Given the description of an element on the screen output the (x, y) to click on. 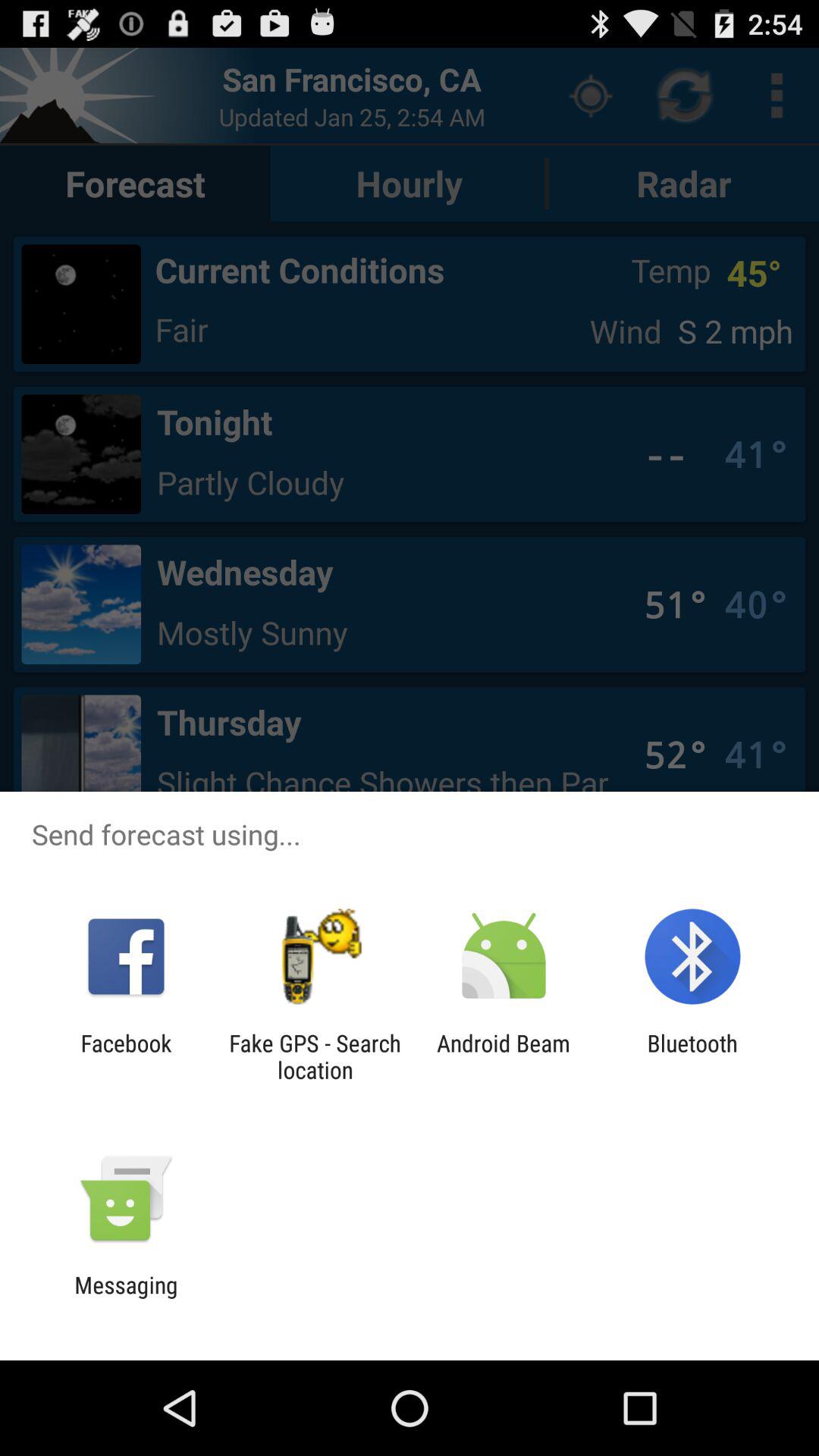
turn off item next to the bluetooth item (503, 1056)
